Given the description of an element on the screen output the (x, y) to click on. 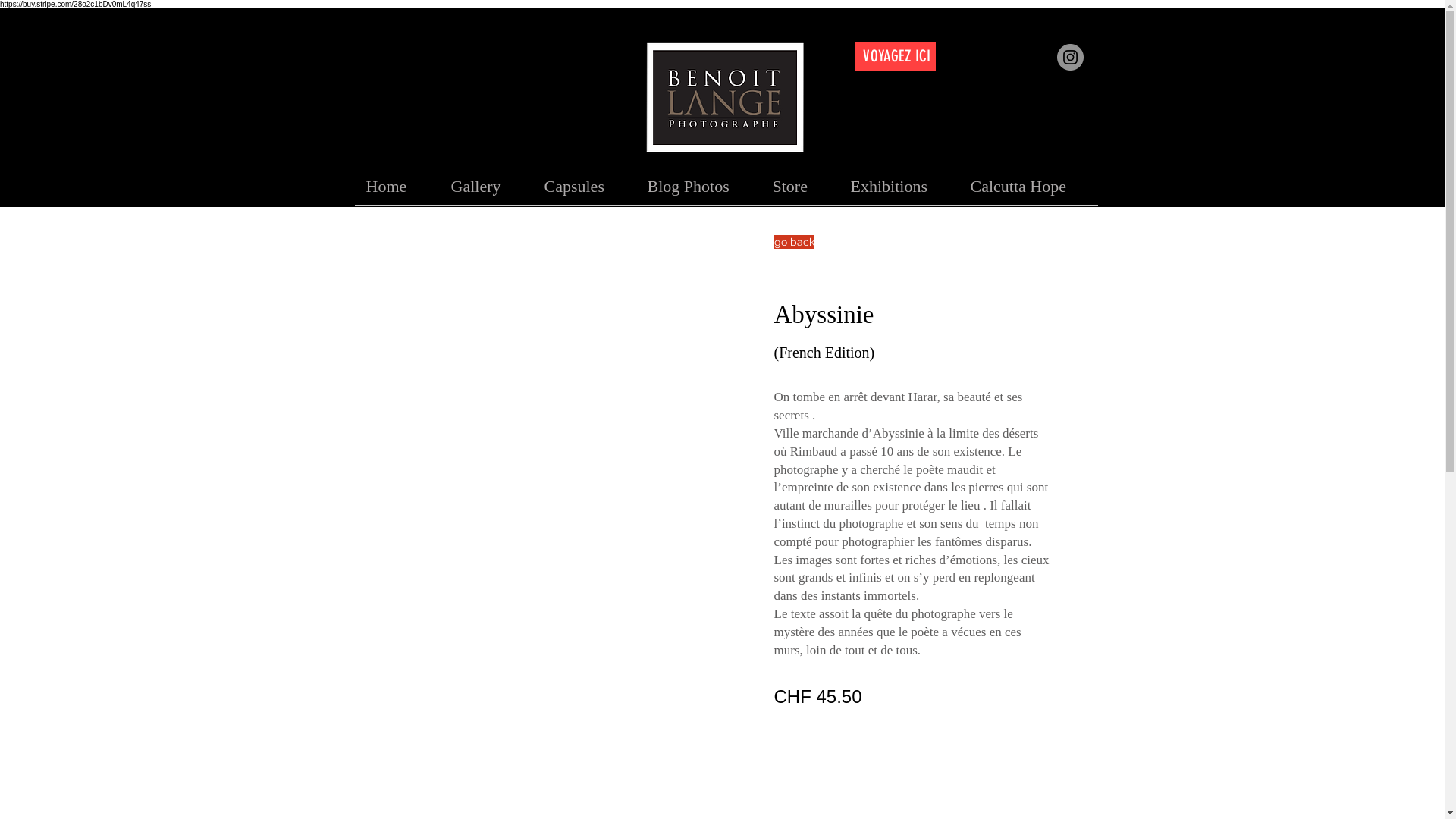
Calcutta Hope Element type: text (1027, 186)
Blog Photos Element type: text (697, 186)
Gallery Element type: text (486, 186)
Store Element type: text (800, 186)
Home Element type: text (396, 186)
go back Element type: text (793, 242)
Capsules Element type: text (583, 186)
Exhibitions Element type: text (898, 186)
